Given the description of an element on the screen output the (x, y) to click on. 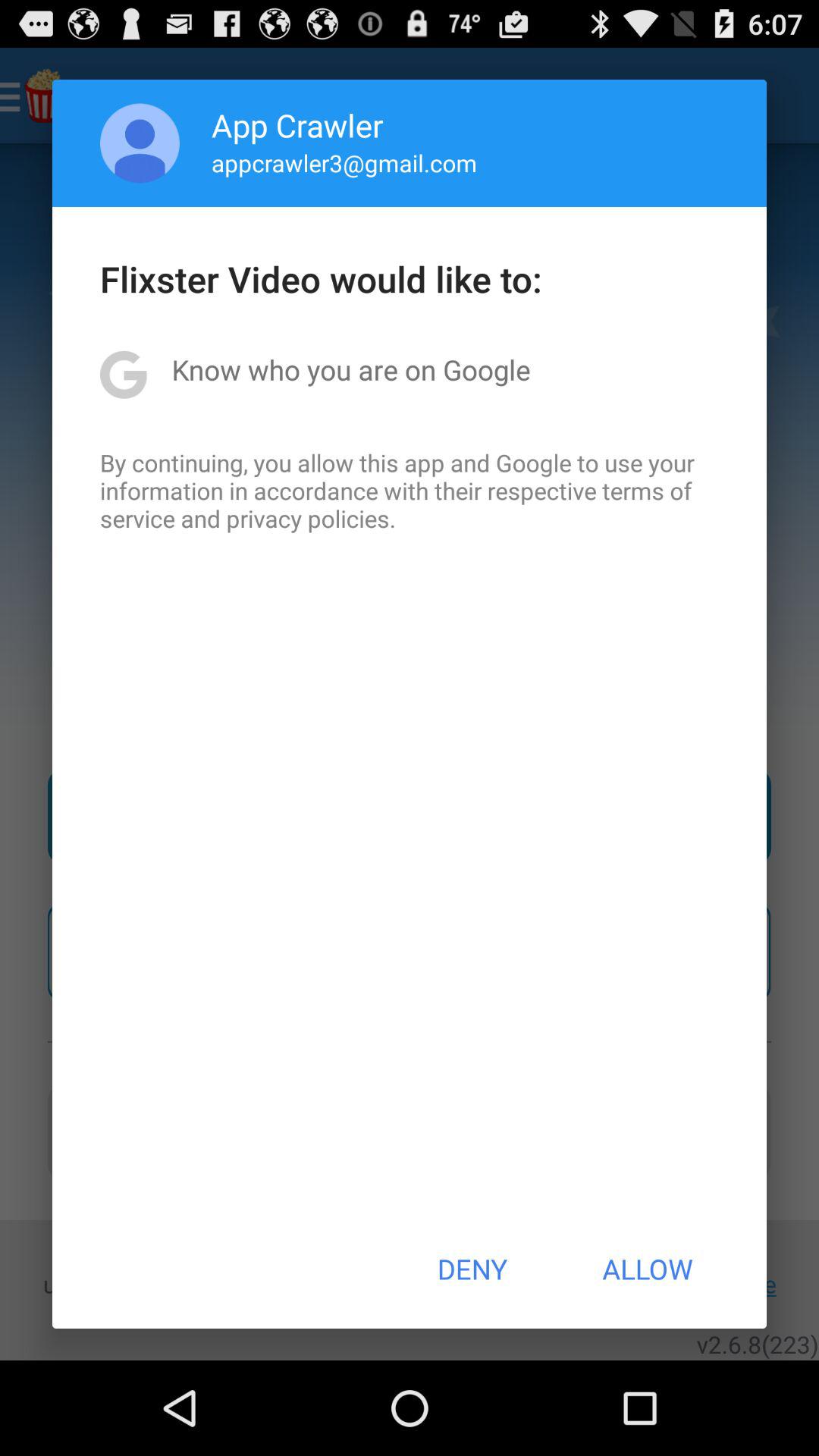
tap the button to the left of the allow icon (471, 1268)
